Given the description of an element on the screen output the (x, y) to click on. 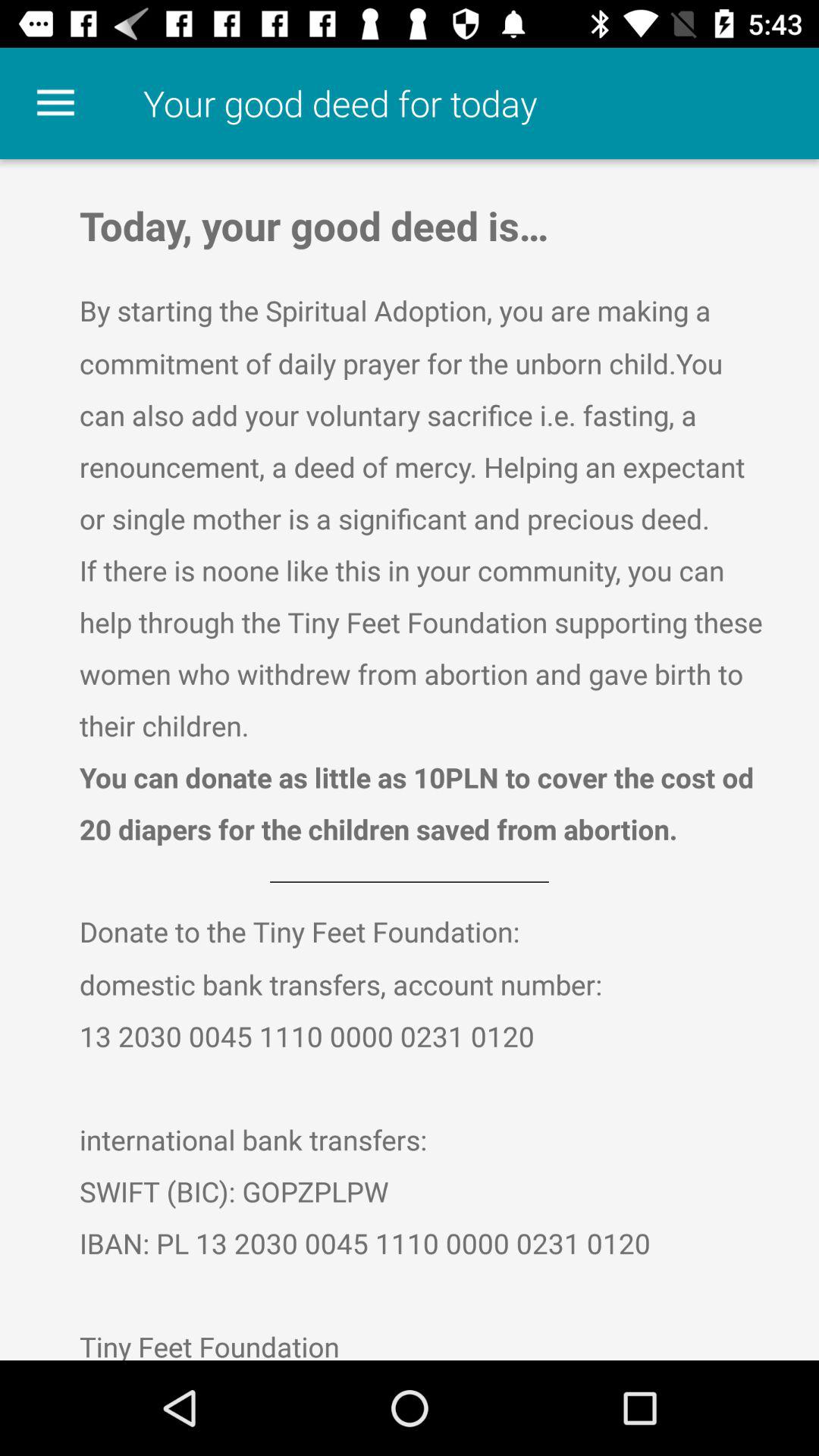
click the item at the top left corner (55, 103)
